Given the description of an element on the screen output the (x, y) to click on. 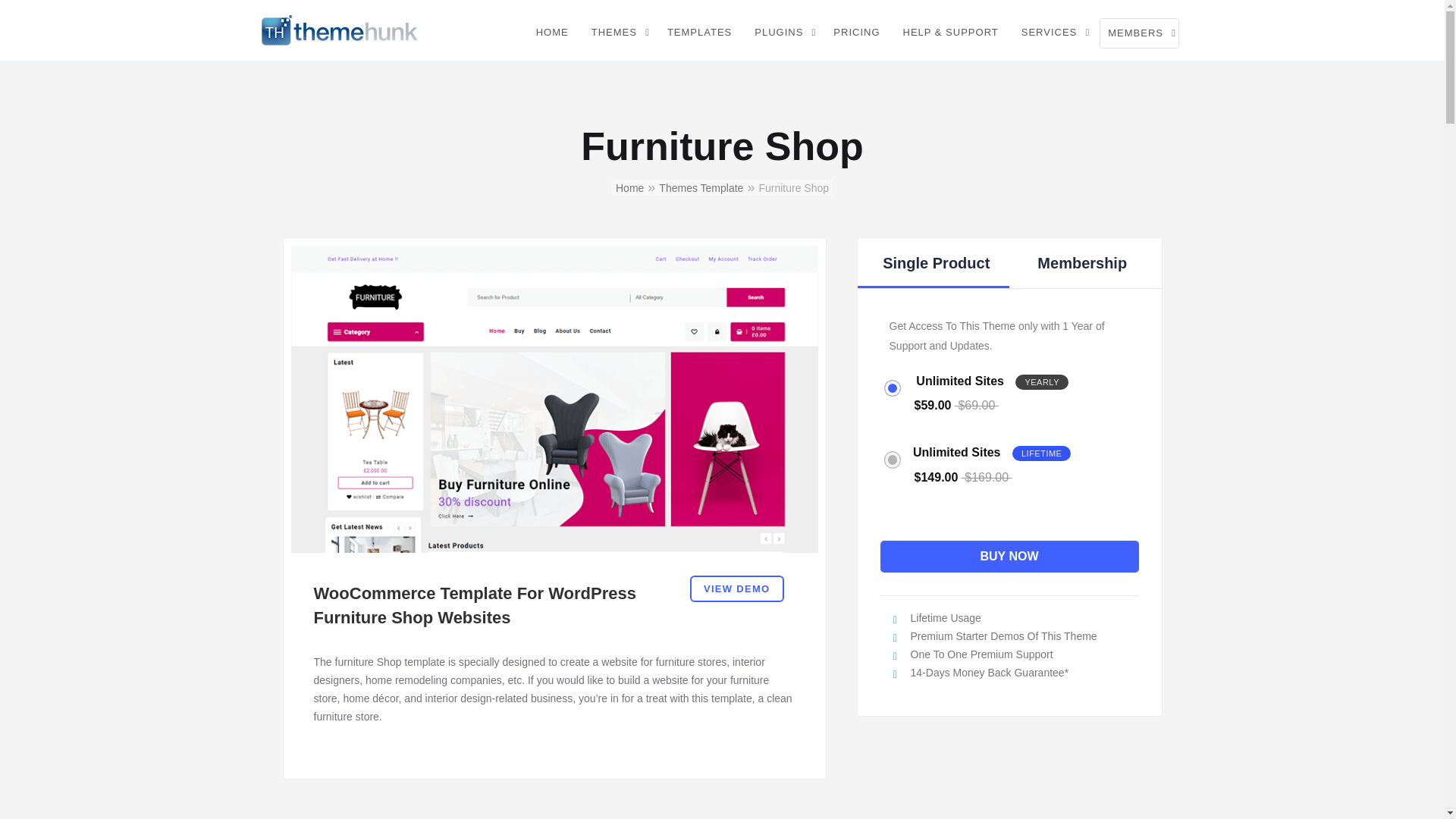
Home (629, 187)
HOME (552, 32)
PLUGINS (782, 32)
THEMES (617, 32)
PRICING (855, 32)
SERVICES (1053, 32)
BUY NOW (1009, 556)
VIEW DEMO (737, 588)
Themes Template (700, 187)
